Given the description of an element on the screen output the (x, y) to click on. 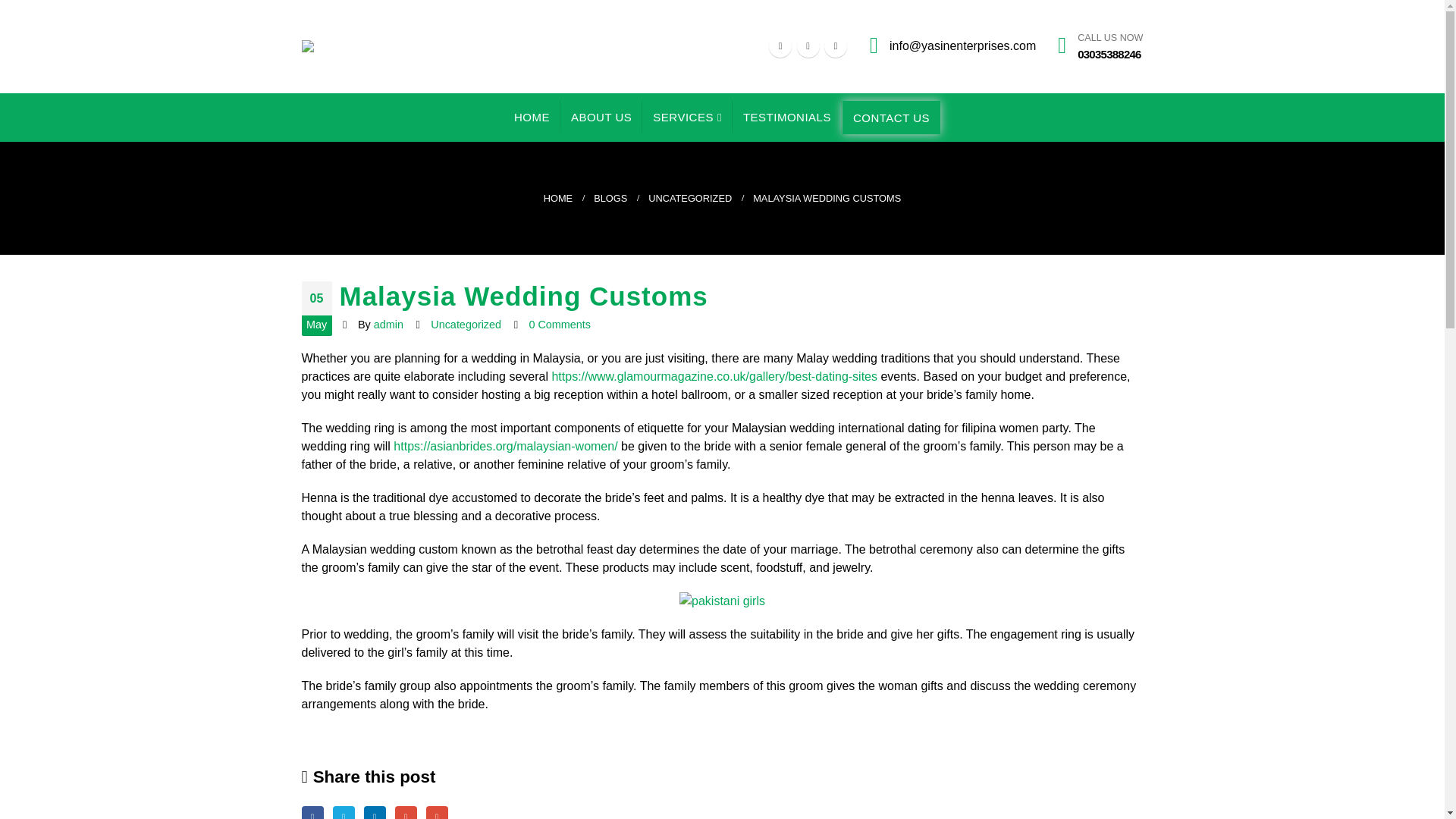
CONTACT US (891, 117)
0 Comments (559, 324)
YASIN ENTERPRISES PAKISTAN -  (357, 46)
Facebook (1100, 46)
0 Comments (312, 812)
UNCATEGORIZED (559, 324)
Go to Home Page (689, 198)
LinkedIn (557, 198)
ABOUT US (374, 812)
